Given the description of an element on the screen output the (x, y) to click on. 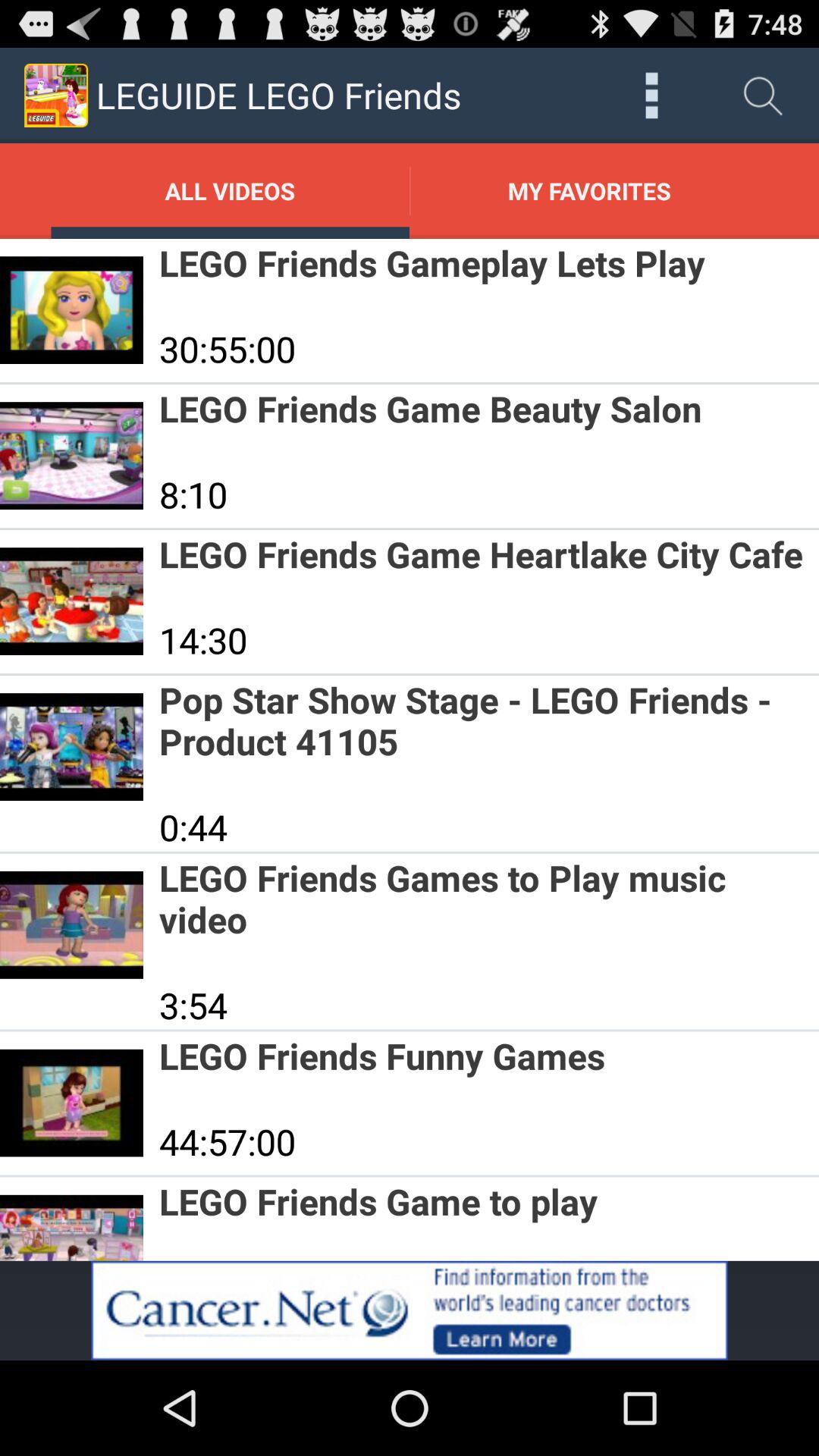
view all options (651, 95)
